Given the description of an element on the screen output the (x, y) to click on. 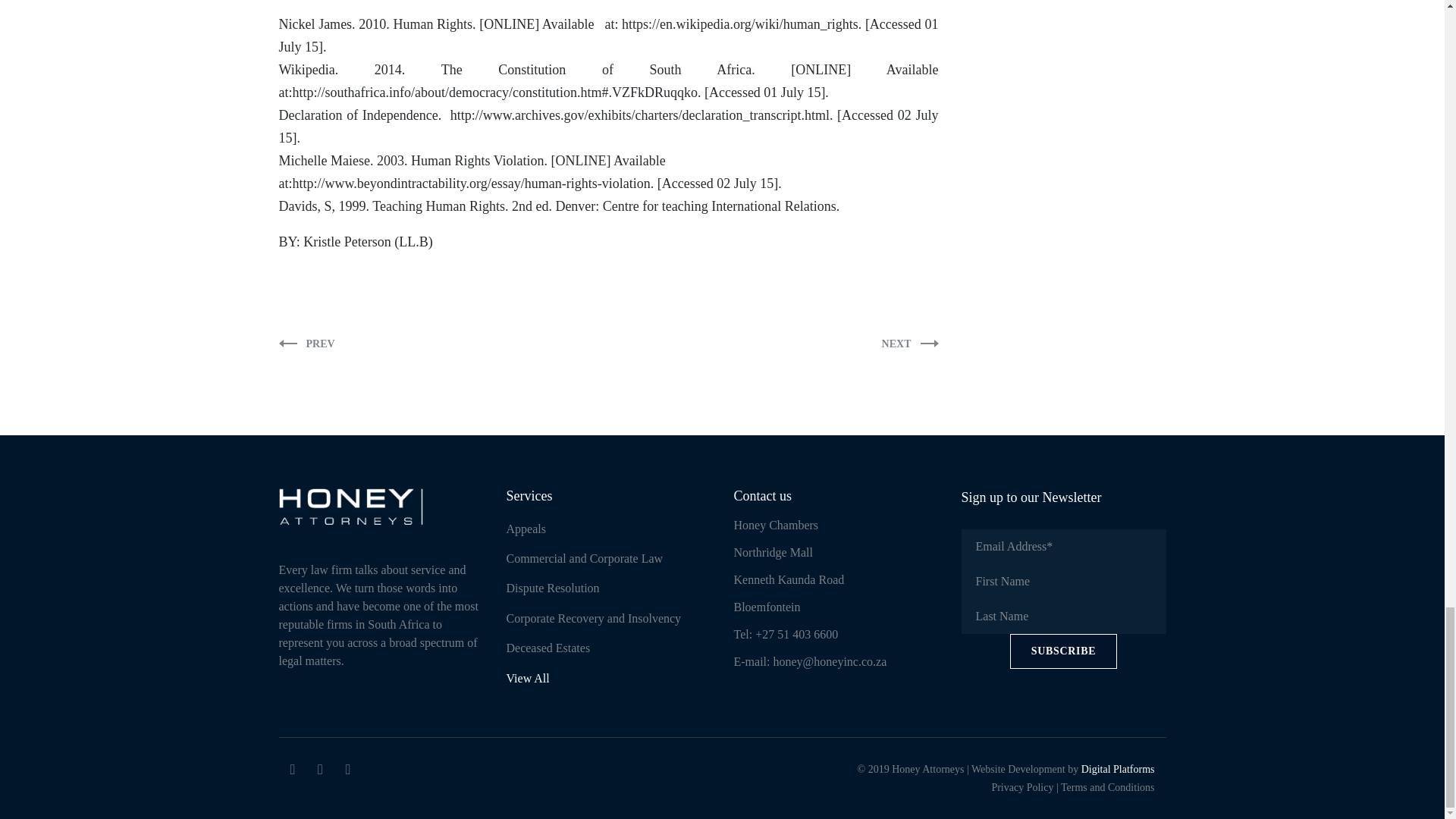
Subscribe (1064, 651)
